Given the description of an element on the screen output the (x, y) to click on. 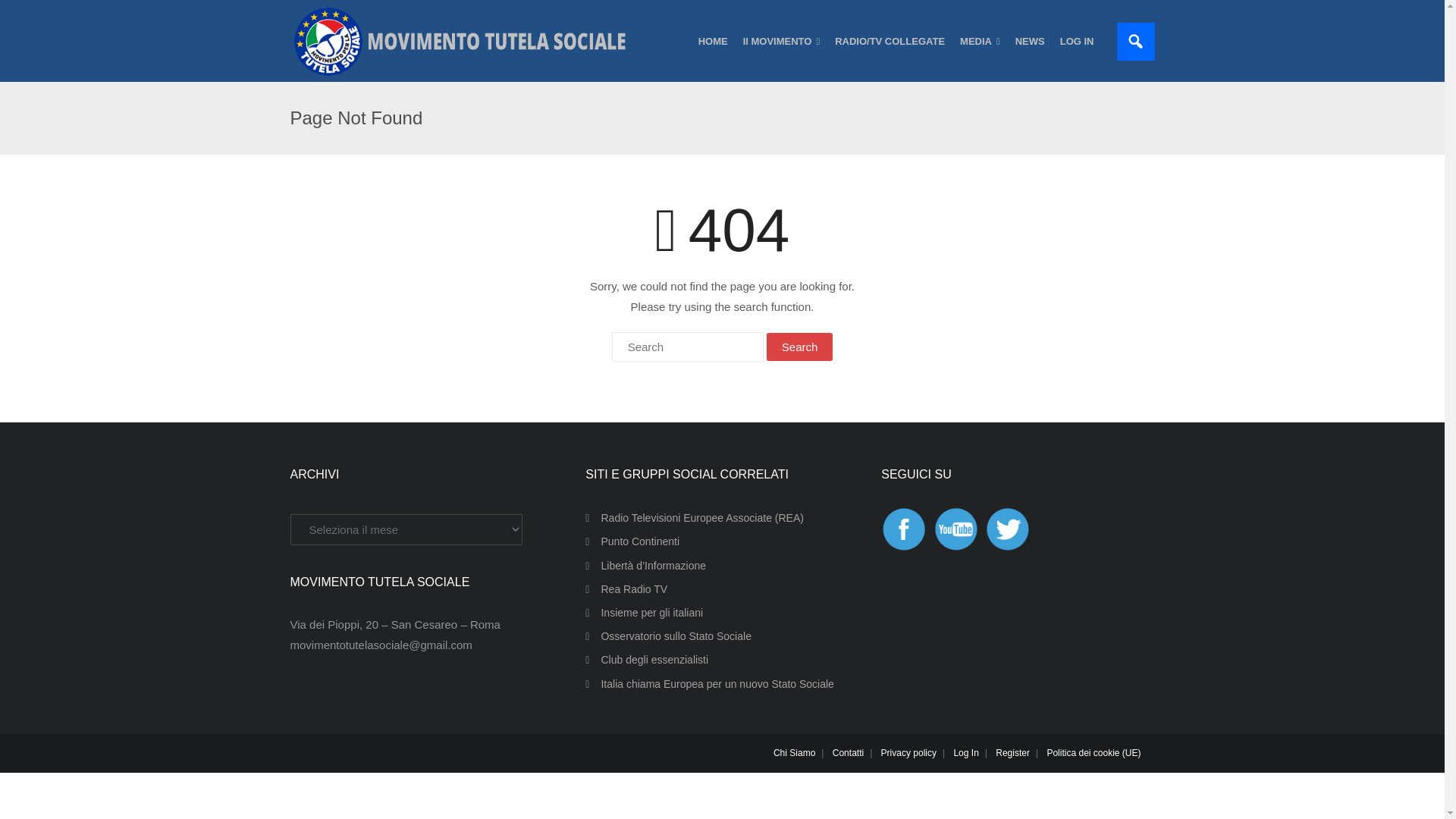
Il MOVIMENTO (781, 40)
Osservatorio sullo Stato Sociale (668, 636)
Search (799, 346)
MEDIA (979, 40)
Rea Radio TV (625, 589)
Search (799, 346)
LOG IN (1077, 40)
HOME (712, 40)
NEWS (1029, 40)
Insieme per gli italiani (644, 612)
Search (29, 12)
Club degli essenzialisti (646, 660)
Search (799, 346)
Punto Continenti (632, 541)
